Given the description of an element on the screen output the (x, y) to click on. 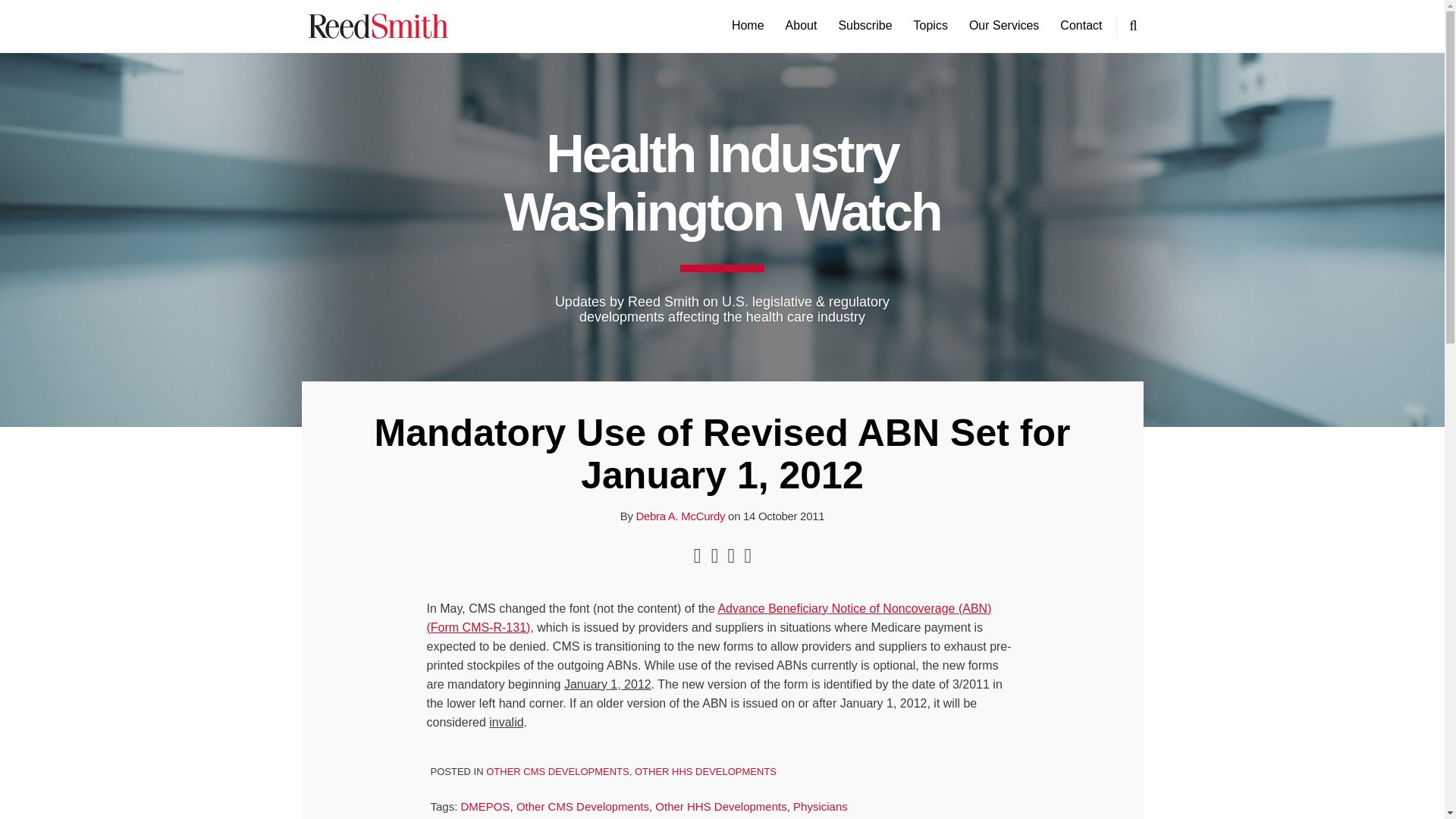
OTHER CMS DEVELOPMENTS (557, 771)
Home (748, 25)
Topics (930, 25)
DMEPOS (486, 806)
Debra A. McCurdy (679, 515)
Subscribe (864, 25)
About (801, 25)
Our Services (1004, 25)
OTHER HHS DEVELOPMENTS (705, 771)
Health Industry Washington Watch (721, 182)
Other HHS Developments (720, 806)
Contact (1080, 25)
Physicians (820, 806)
Other CMS Developments (582, 806)
